Given the description of an element on the screen output the (x, y) to click on. 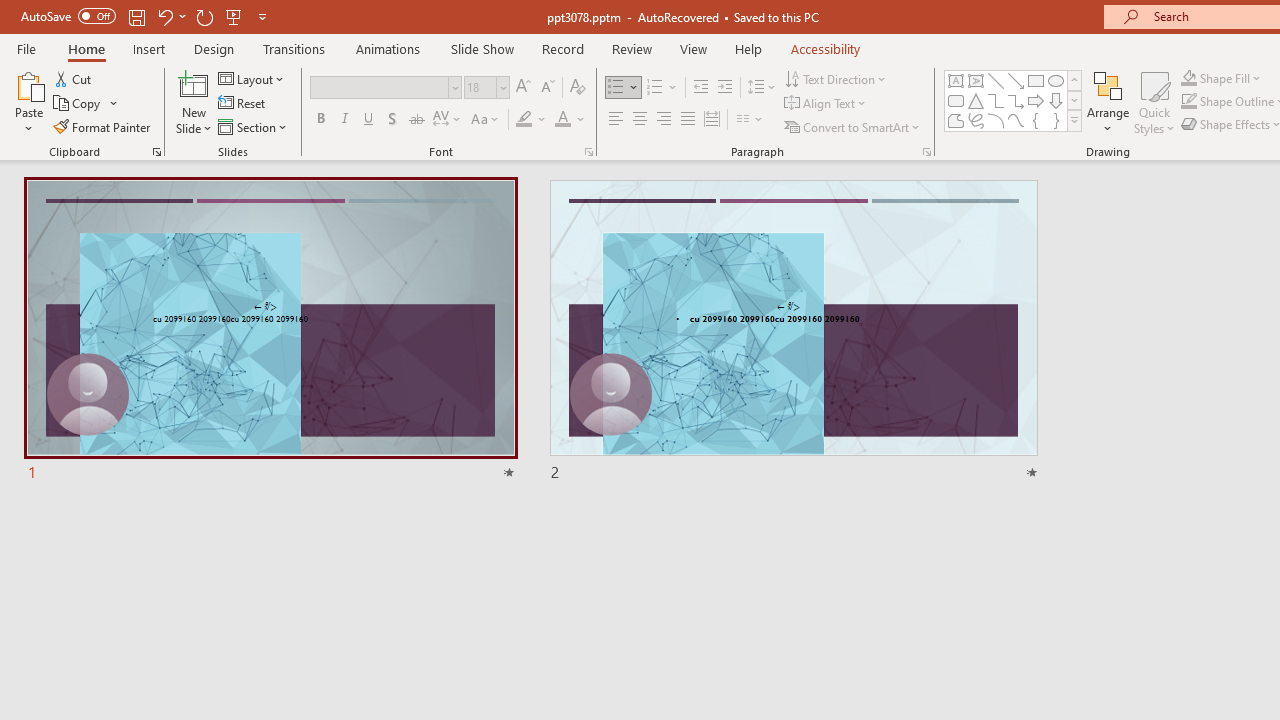
Shape Fill Dark Green, Accent 2 (1188, 78)
Font... (588, 151)
Text Highlight Color (531, 119)
Layout (252, 78)
Quick Styles (1154, 102)
Right Brace (1055, 120)
Arrange (1108, 102)
